Given the description of an element on the screen output the (x, y) to click on. 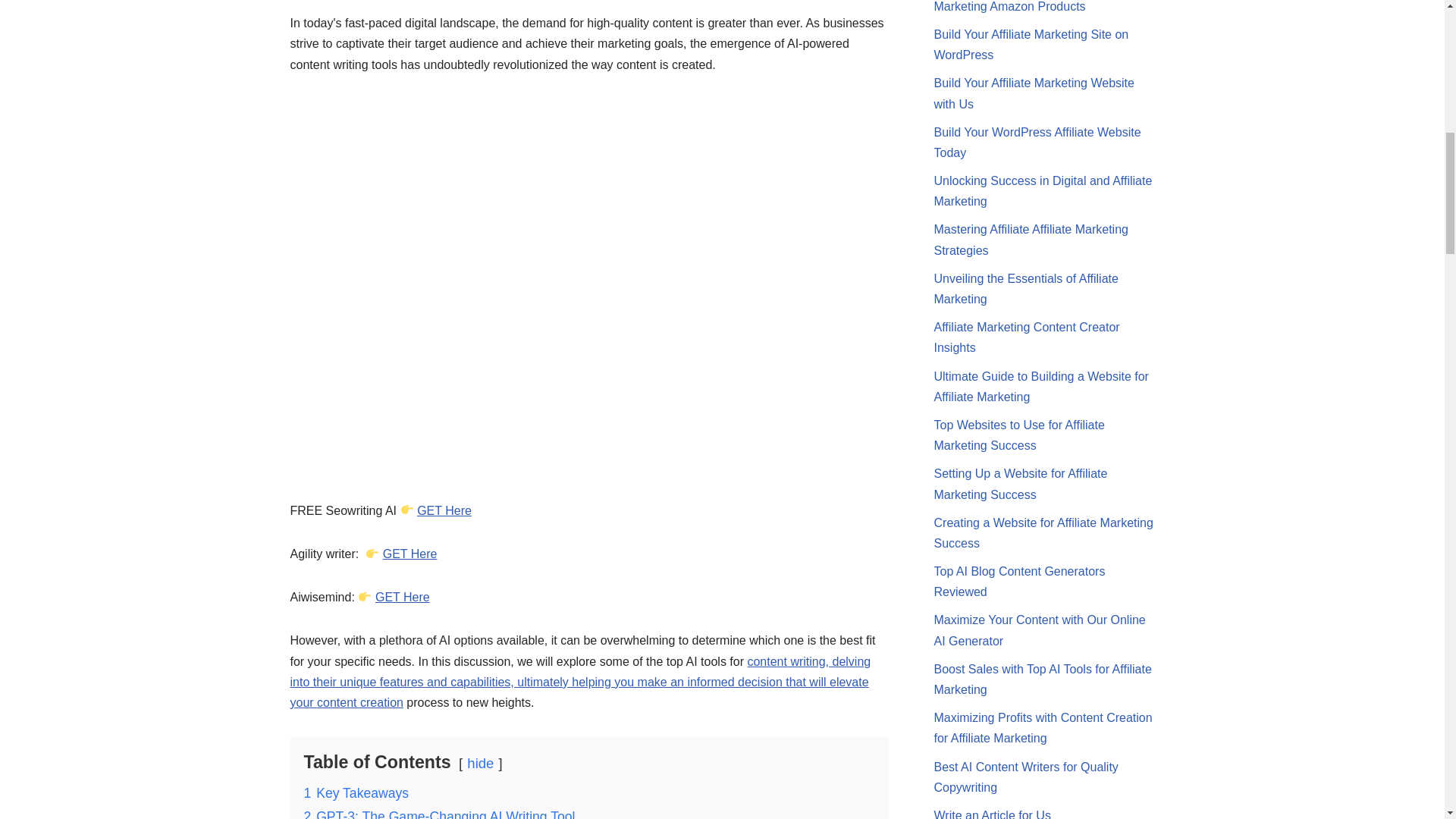
2 GPT-3: The Game-Changing AI Writing Tool (438, 814)
GET Here (410, 553)
hide (480, 763)
1 Key Takeaways (355, 792)
GET Here (402, 596)
GET Here (443, 510)
